Given the description of an element on the screen output the (x, y) to click on. 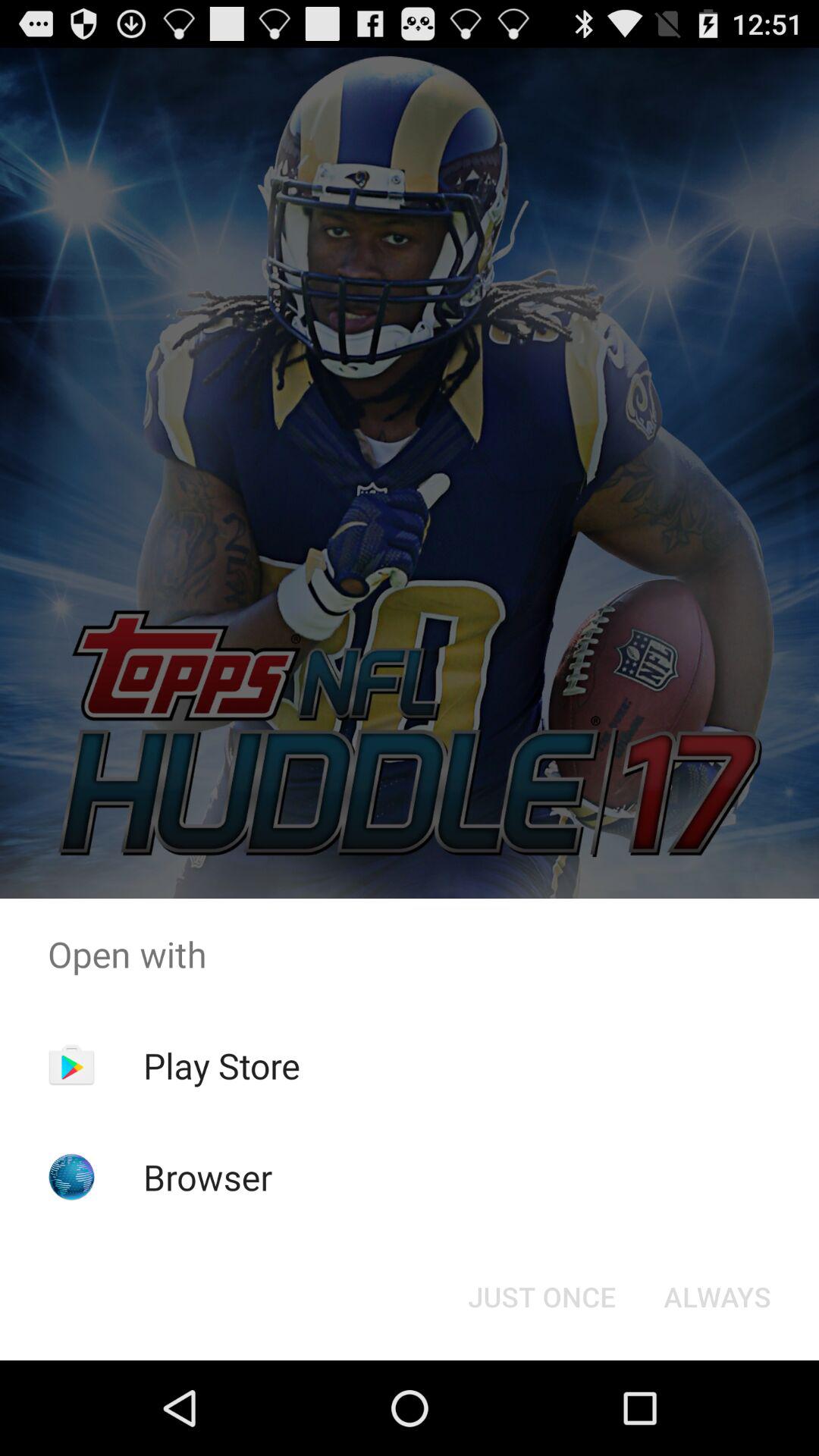
select the always button (717, 1296)
